Given the description of an element on the screen output the (x, y) to click on. 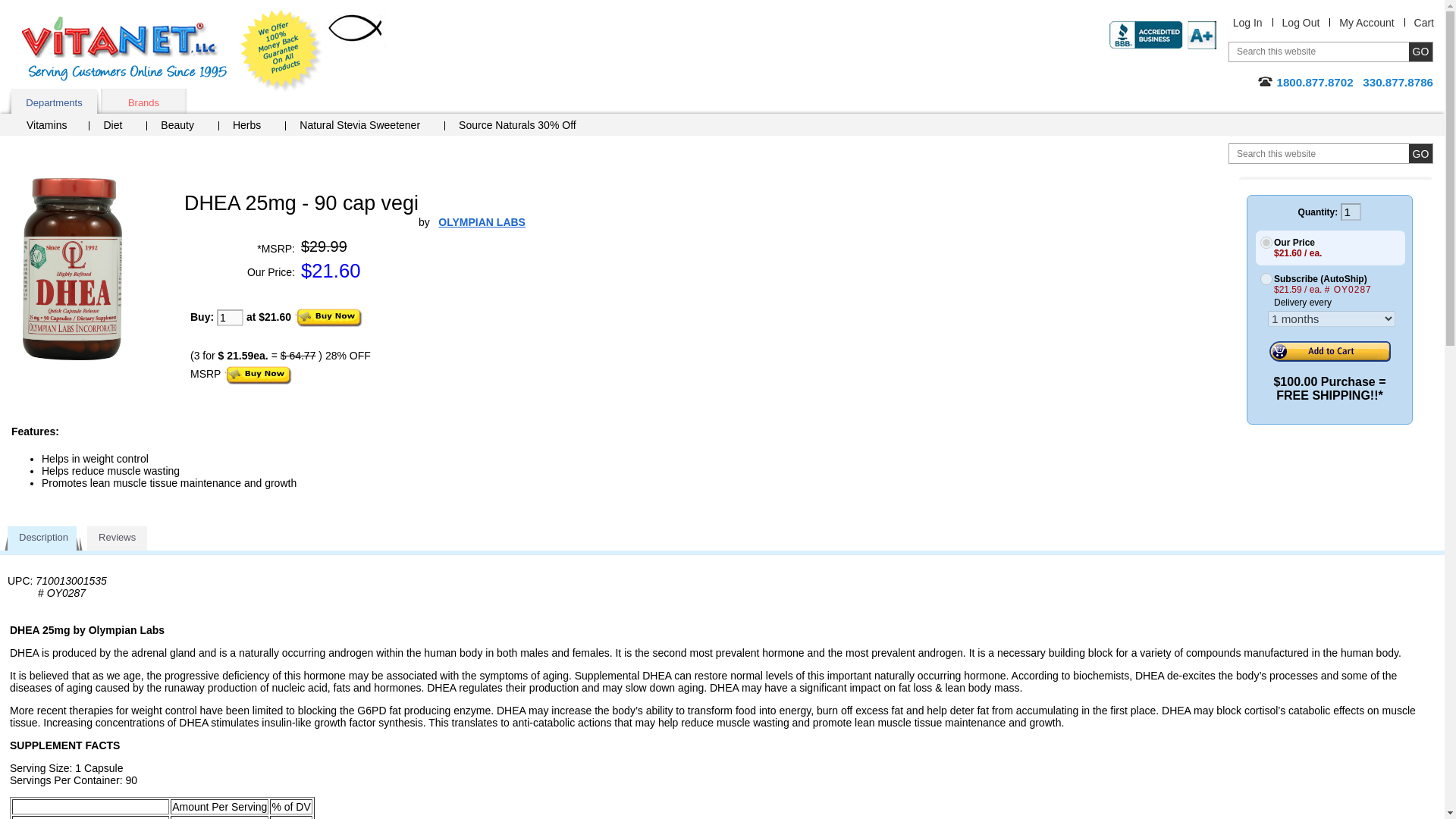
1 (229, 317)
Cart (1423, 22)
1 (1350, 211)
Description (43, 538)
Beauty (183, 126)
Log In (1247, 22)
go (1420, 153)
Diet (117, 126)
Log Out (1301, 22)
Natural Stevia Sweetener (365, 126)
Vitamins (53, 126)
My Account (1366, 22)
Add to Cart      (1329, 351)
go (1420, 51)
2 (1266, 278)
